Given the description of an element on the screen output the (x, y) to click on. 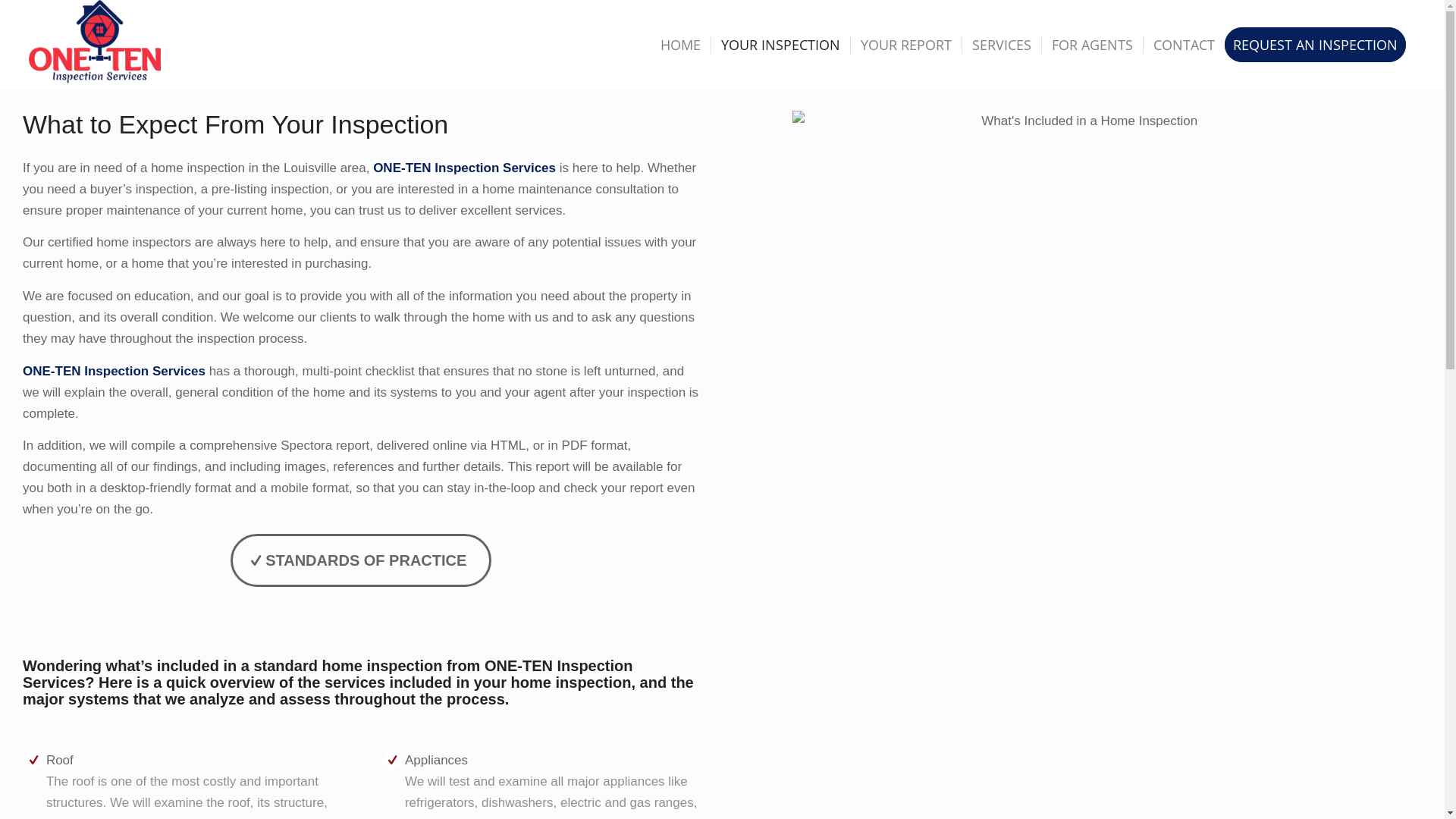
CONTACT Element type: text (1183, 44)
YOUR REPORT Element type: text (905, 44)
YOUR INSPECTION Element type: text (780, 44)
REQUEST AN INSPECTION Element type: text (1319, 44)
FOR AGENTS Element type: text (1091, 44)
SERVICES Element type: text (1001, 44)
HOME Element type: text (680, 44)
STANDARDS OF PRACTICE Element type: text (360, 559)
